Given the description of an element on the screen output the (x, y) to click on. 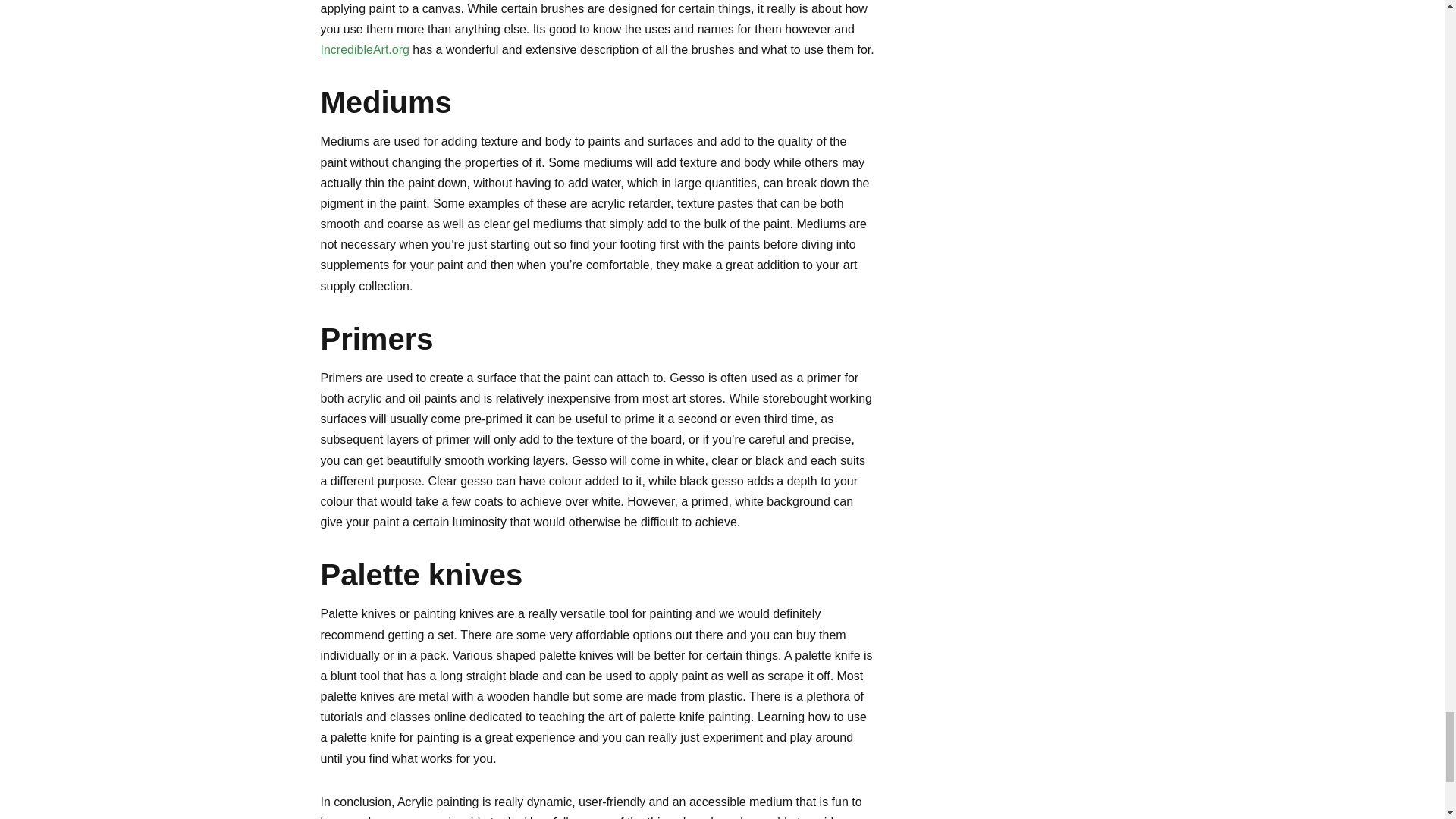
IncredibleArt.org (364, 49)
